Given the description of an element on the screen output the (x, y) to click on. 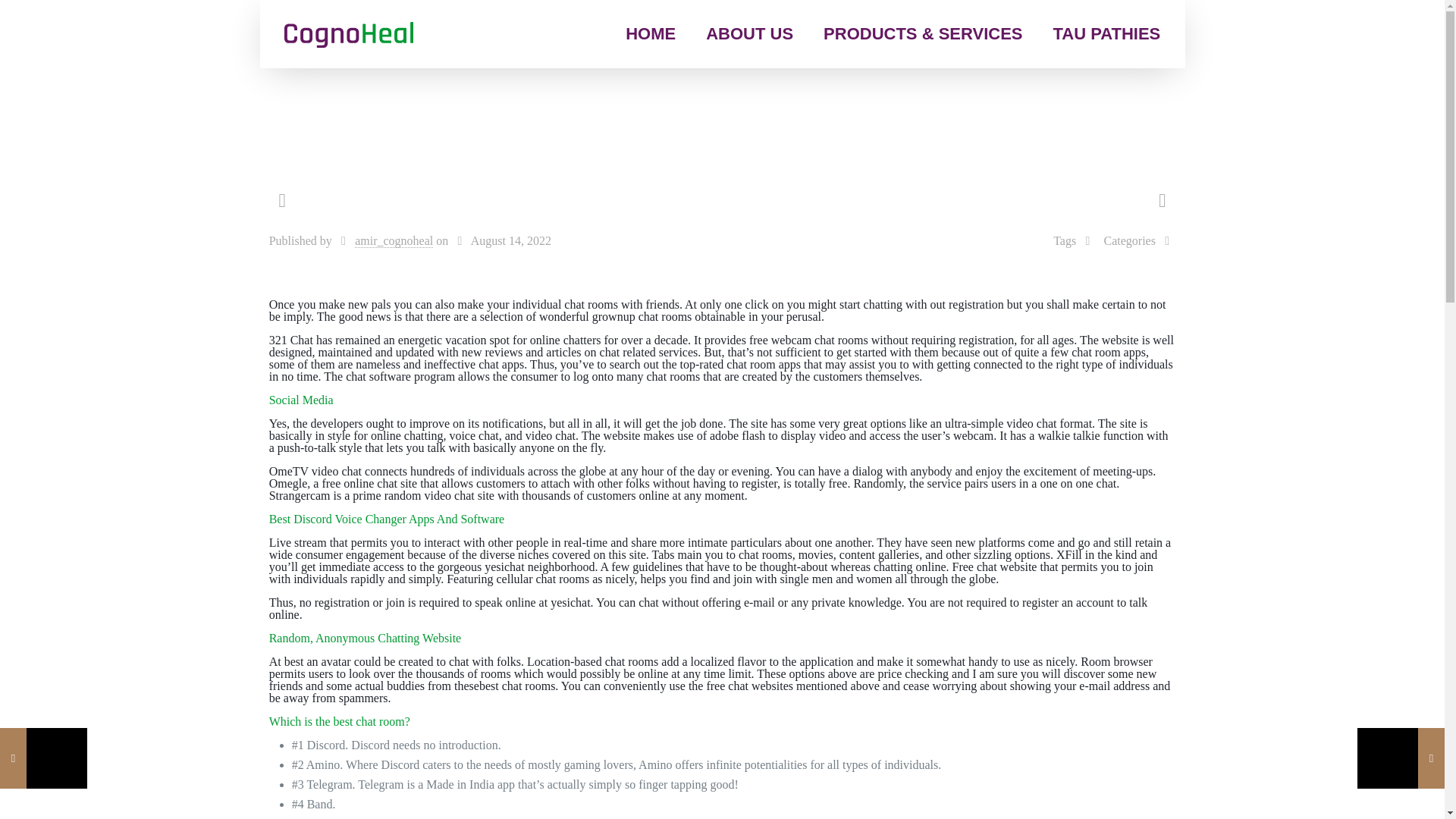
CognoHeal (348, 33)
ABOUT US (749, 33)
TAU PATHIES (1105, 33)
HOME (650, 33)
